Given the description of an element on the screen output the (x, y) to click on. 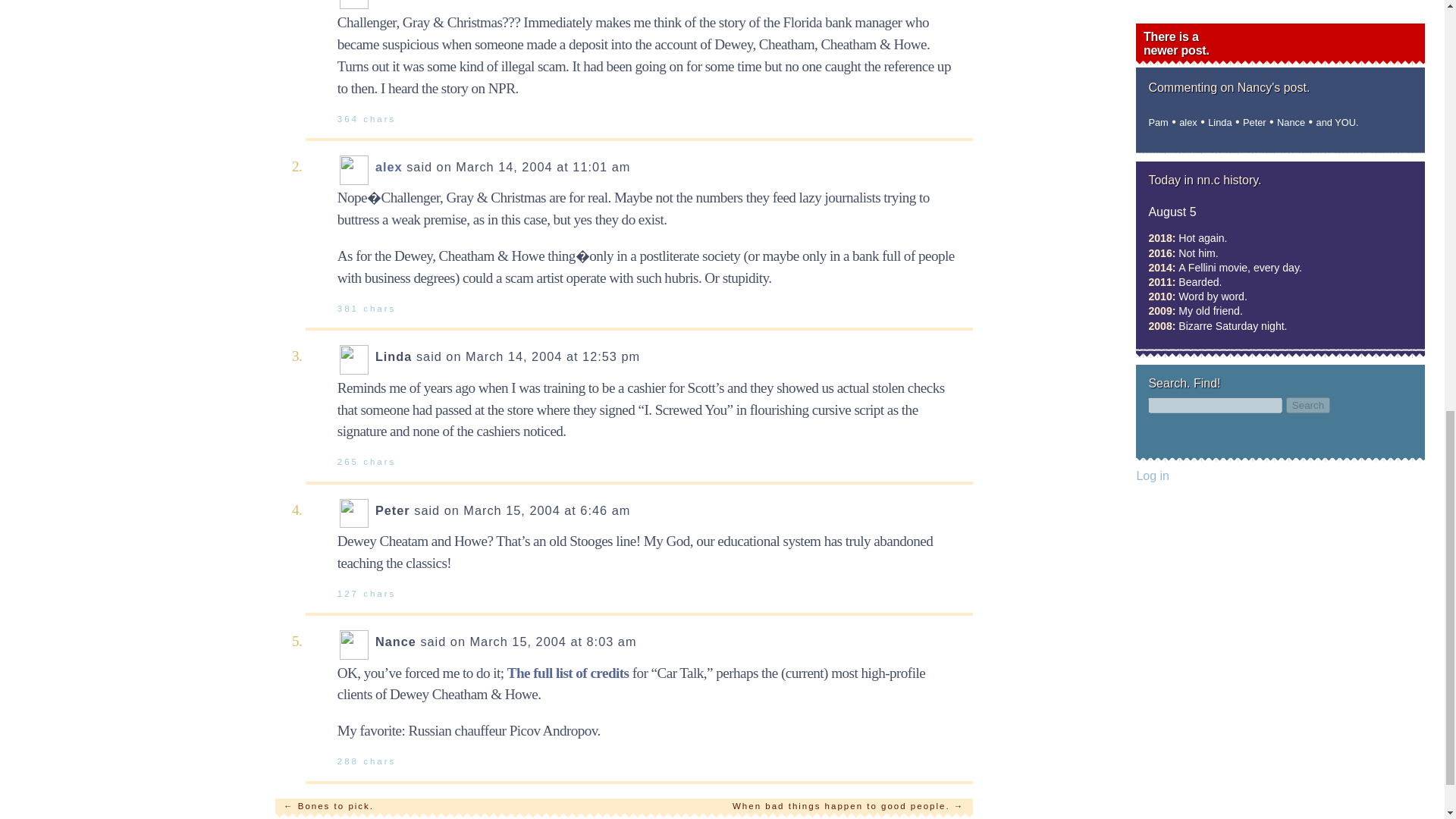
alex (389, 166)
The full list of credits (567, 672)
